Given the description of an element on the screen output the (x, y) to click on. 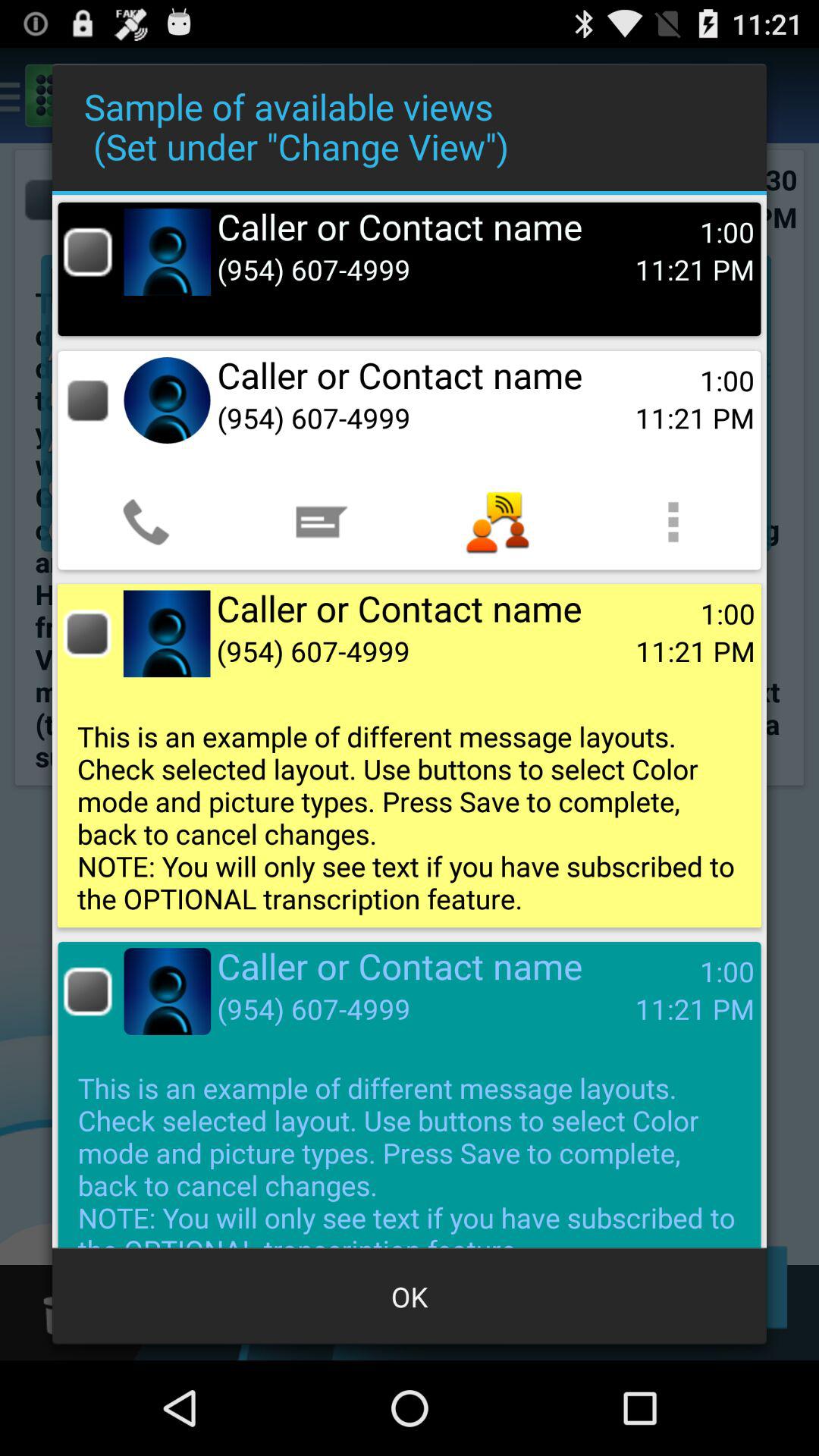
select call (87, 400)
